Given the description of an element on the screen output the (x, y) to click on. 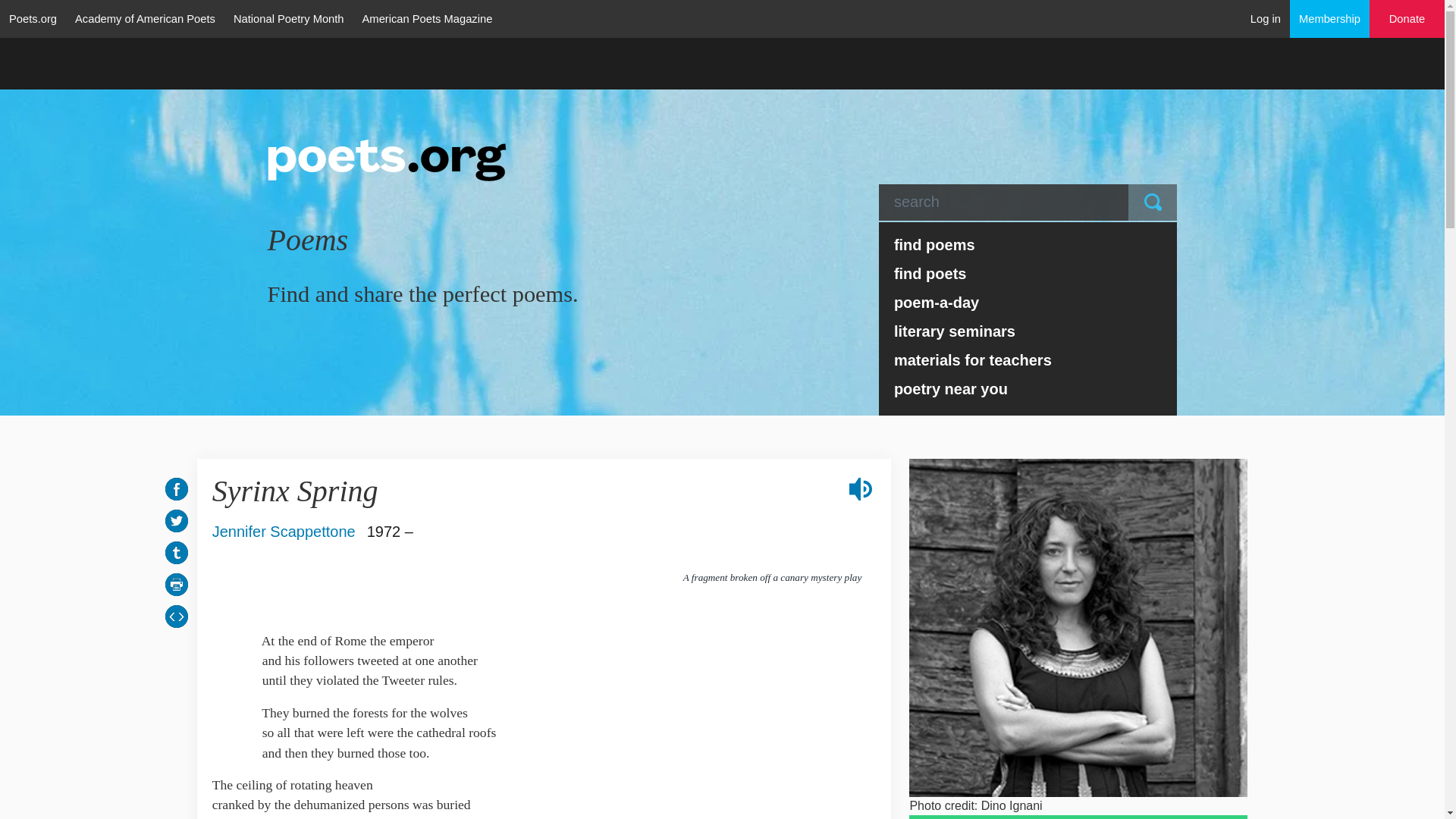
Open embed mode in a new window (176, 615)
Share on Tumblr (176, 552)
Support the mission of the Academy of American Poets (1407, 18)
Jennifer Scappettone (283, 531)
Share on Twitter (176, 520)
literary seminars (1028, 330)
See print mode in new window (176, 584)
poem-a-day (1028, 302)
literary seminars (1028, 330)
Donate (1407, 18)
